Given the description of an element on the screen output the (x, y) to click on. 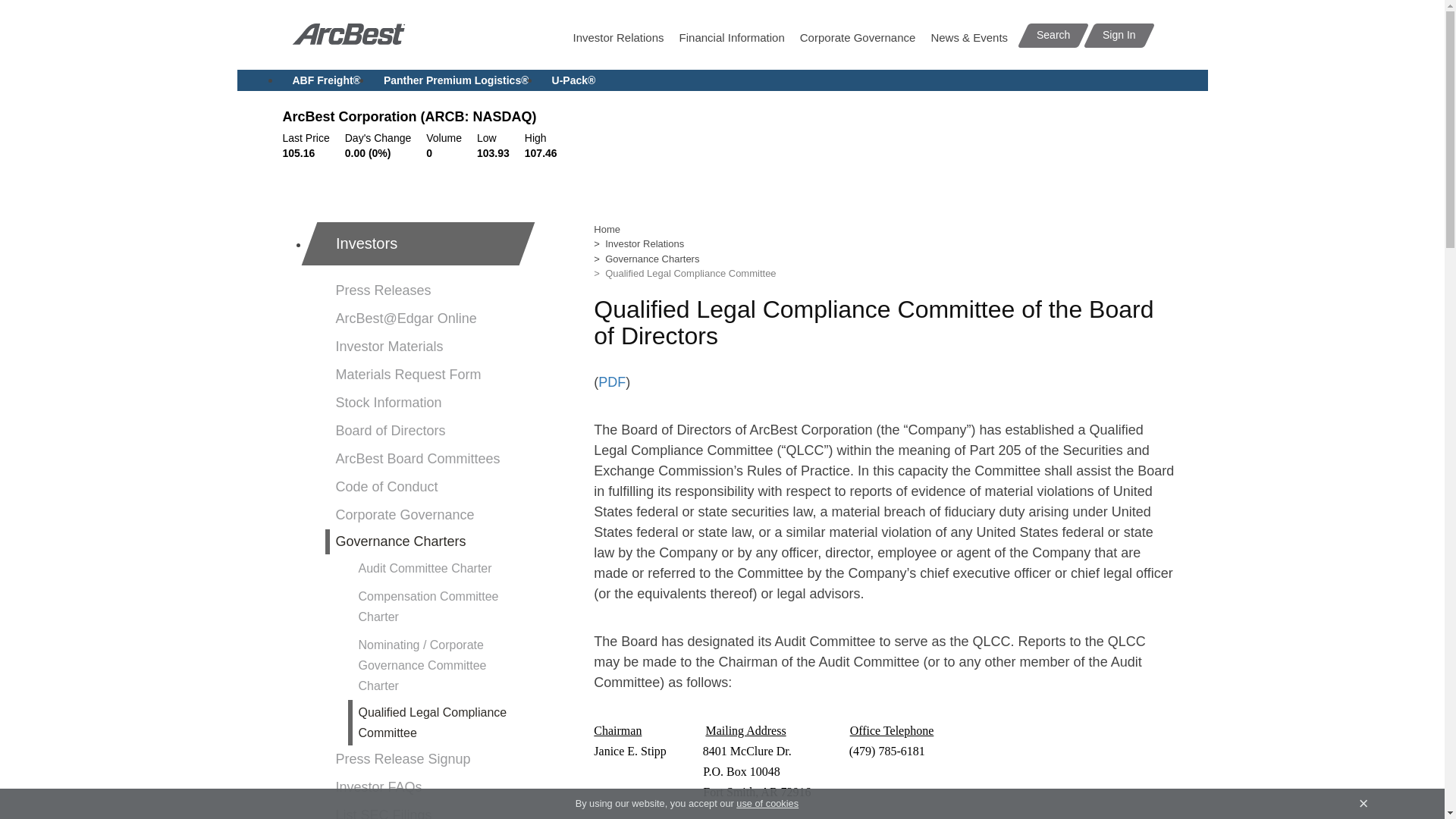
Corporate Governance (857, 37)
Investor Relations (617, 37)
Financial Information (731, 37)
Search (1047, 35)
Sign In (1112, 35)
Press Releases (427, 290)
